Given the description of an element on the screen output the (x, y) to click on. 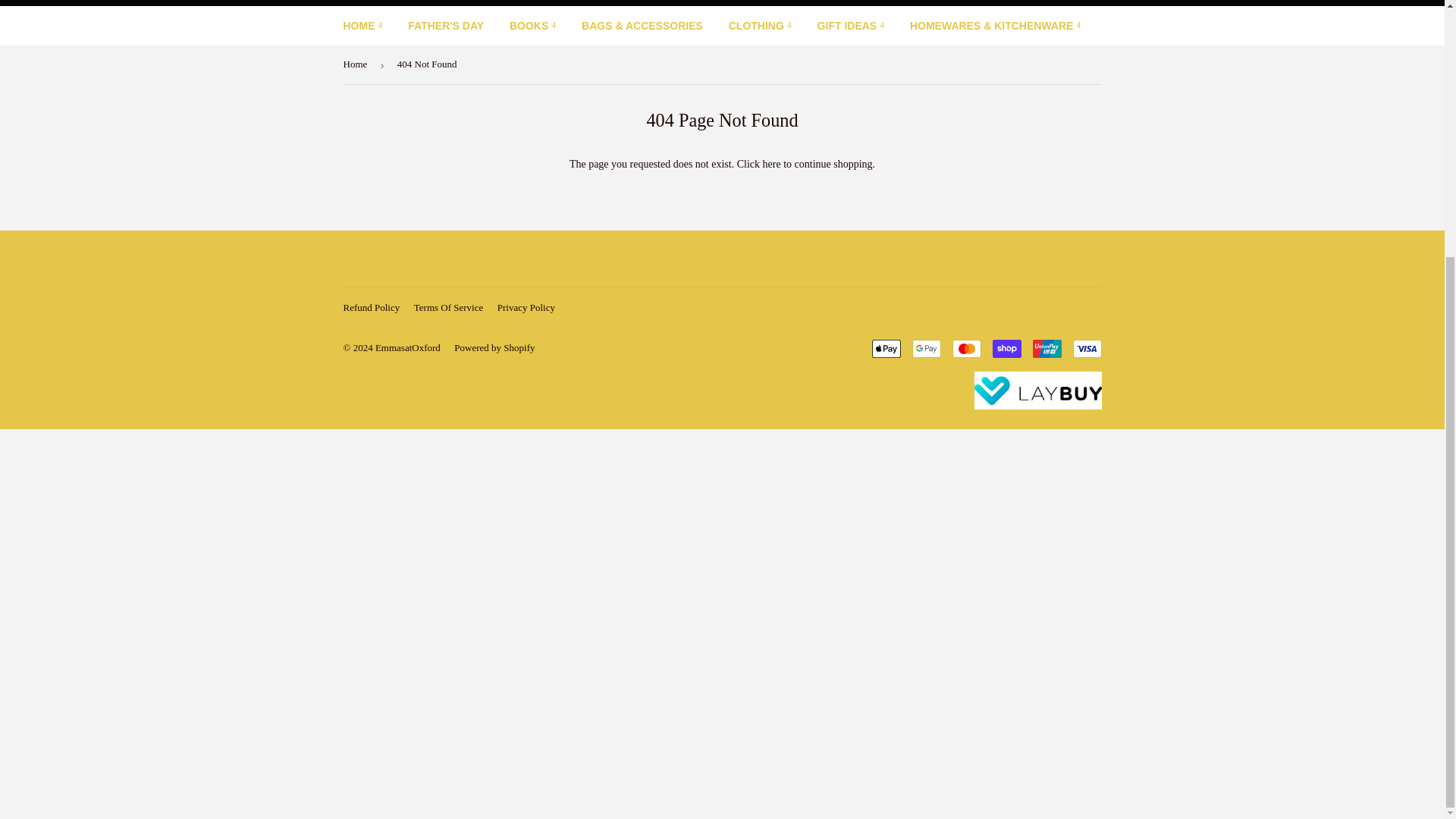
Google Pay (925, 348)
Visa (1085, 348)
Union Pay (1046, 348)
Apple Pay (886, 348)
Shop Pay (1005, 348)
Mastercard (966, 348)
